Given the description of an element on the screen output the (x, y) to click on. 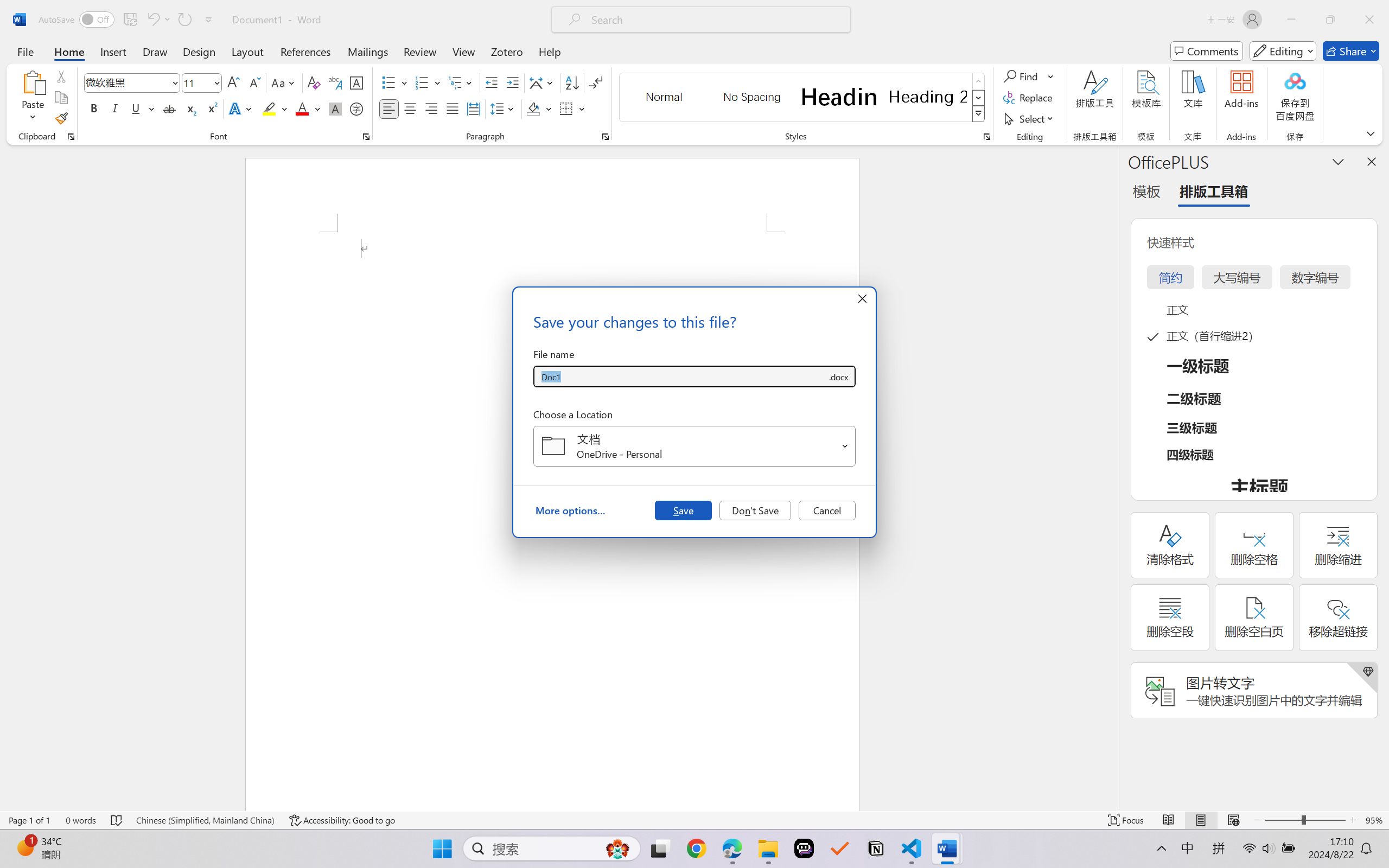
Google Chrome (696, 848)
